Given the description of an element on the screen output the (x, y) to click on. 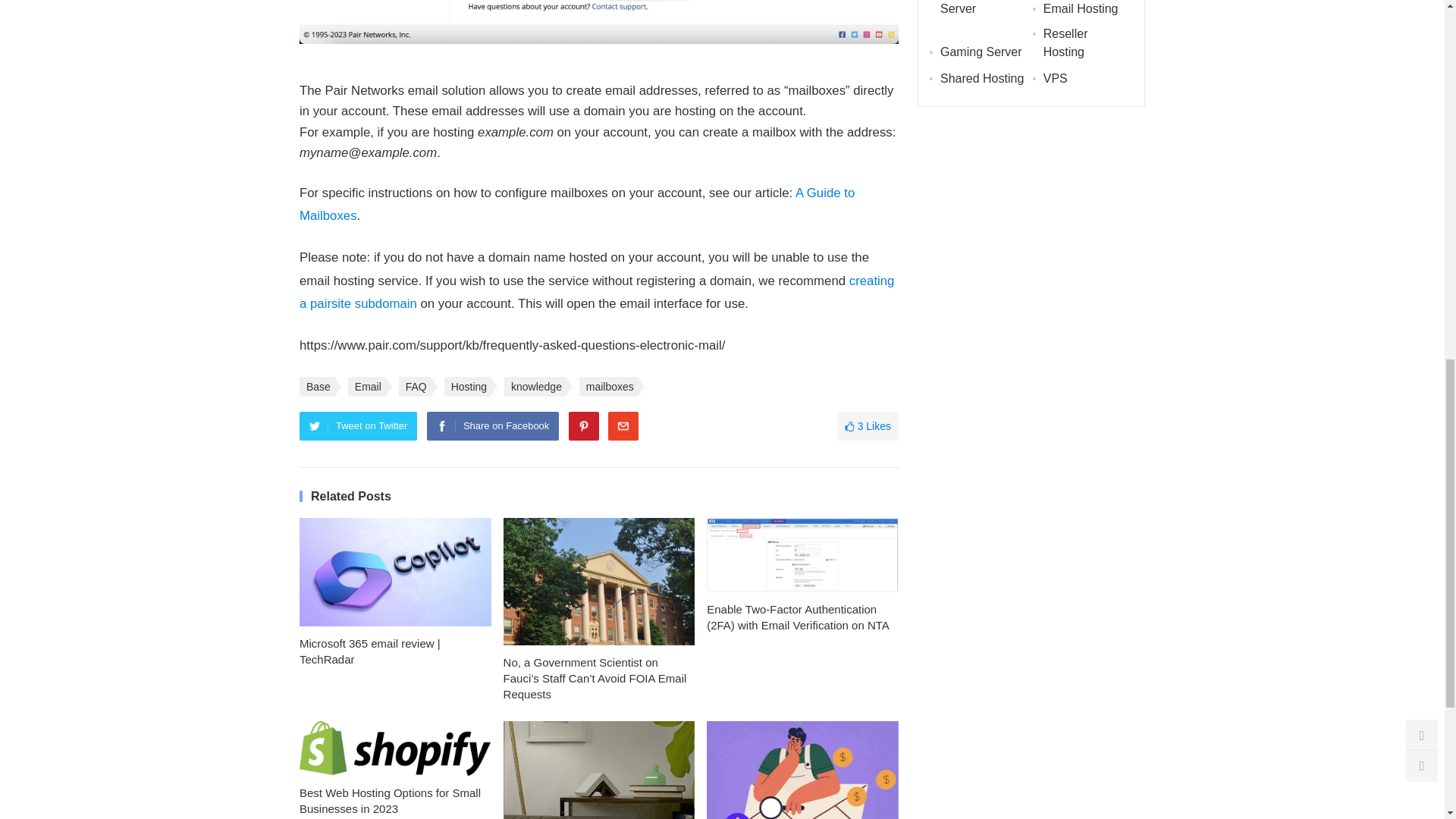
creating a pairsite subdomain (596, 292)
Hosting (467, 386)
A Guide to Mailboxes (576, 203)
knowledge (534, 386)
Best Web Hosting Options for Small Businesses in 2023 (395, 748)
Email (366, 386)
FAQ (414, 386)
Base (316, 386)
Like this post (867, 425)
